Given the description of an element on the screen output the (x, y) to click on. 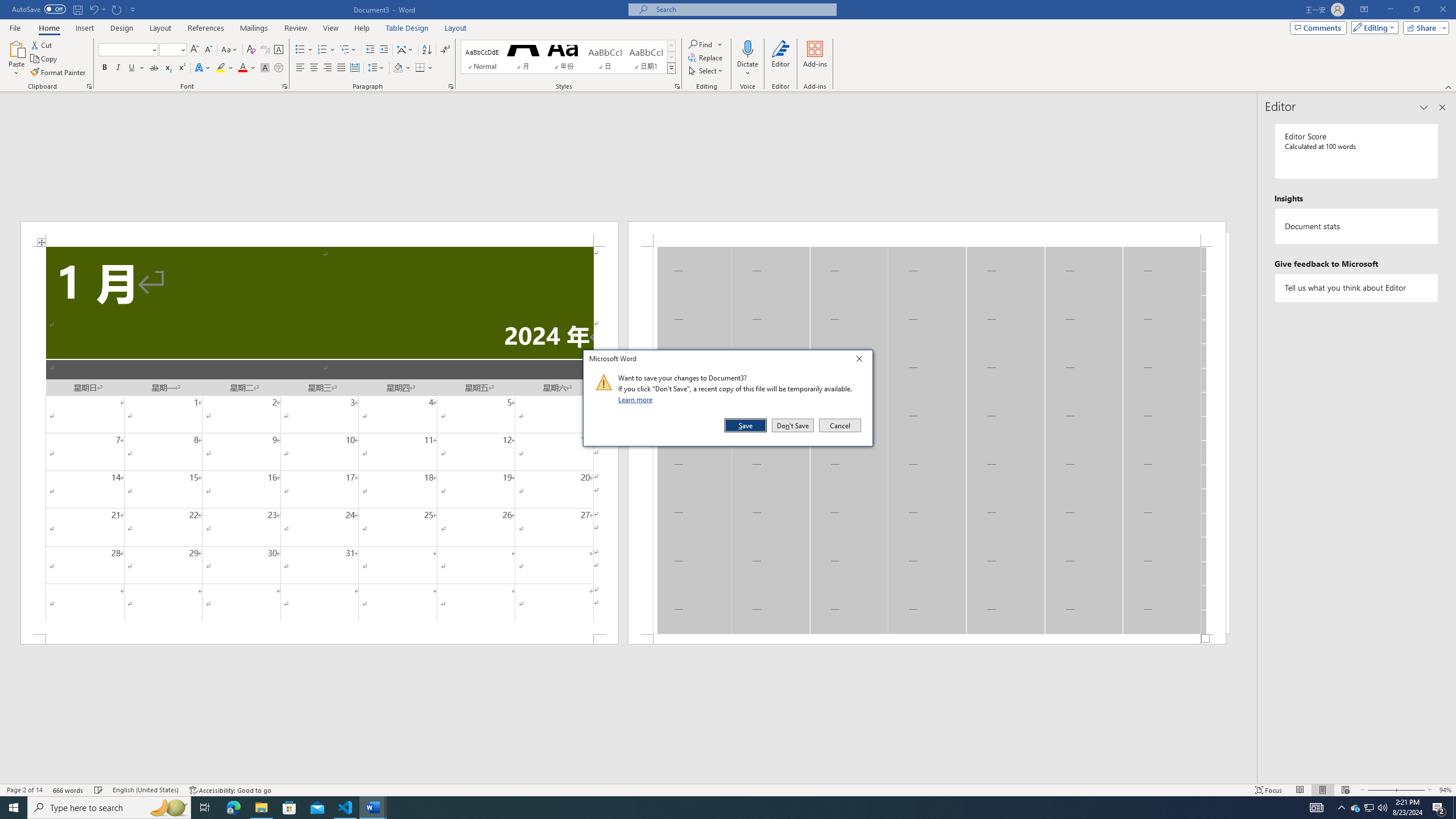
Visual Studio Code - 1 running window (345, 807)
Strikethrough (154, 67)
Font Color (246, 67)
Q2790: 100% (1382, 807)
Learn more (636, 399)
Select (705, 69)
Paragraph... (450, 85)
Font... (285, 85)
Collapse the Ribbon (1448, 86)
Type here to search (108, 807)
Print Layout (1322, 790)
Increase Indent (383, 49)
Comments (1318, 27)
